Given the description of an element on the screen output the (x, y) to click on. 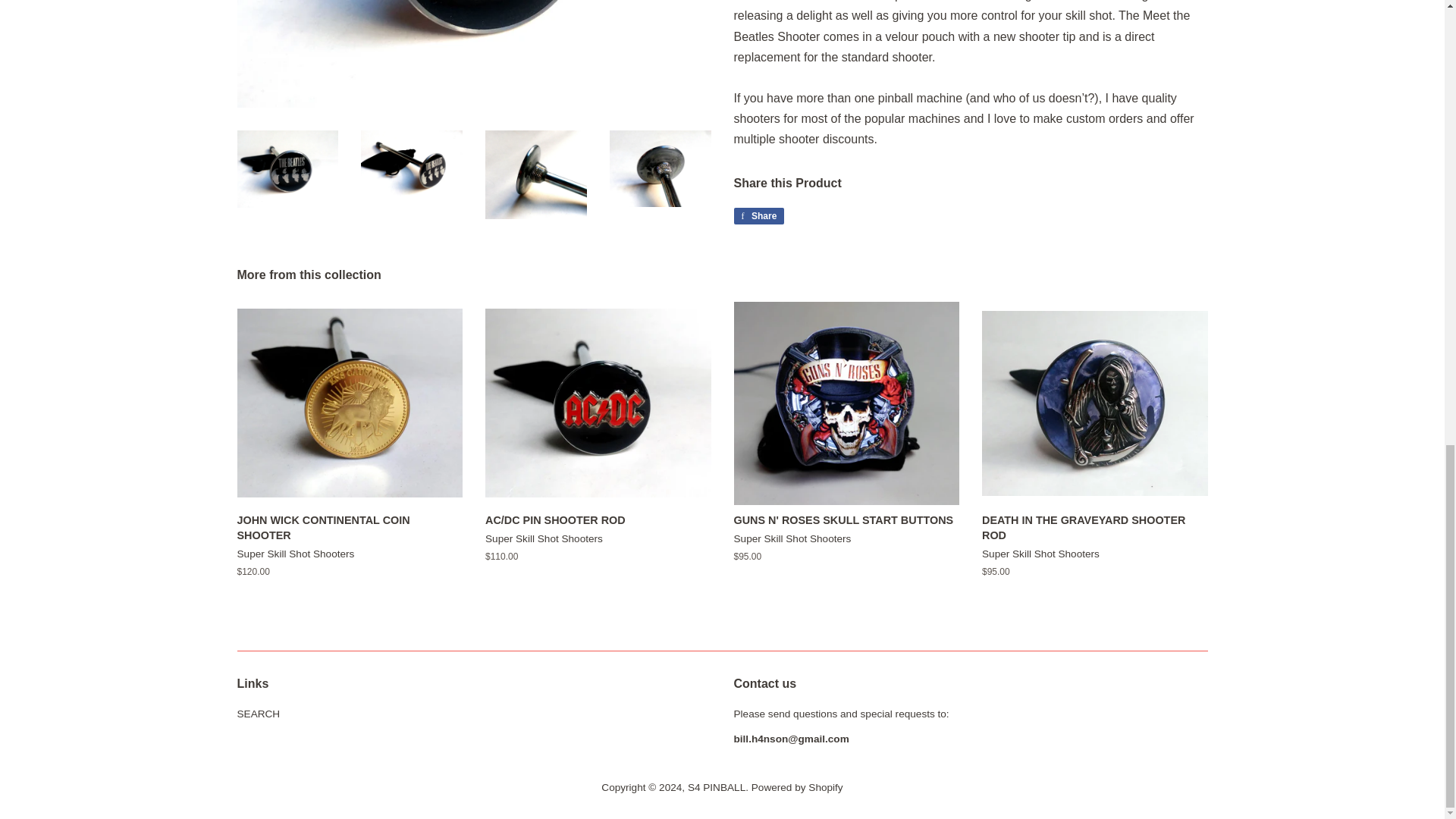
SEARCH (257, 713)
Powered by Shopify (758, 216)
Share on Facebook (797, 787)
S4 PINBALL (758, 216)
